Given the description of an element on the screen output the (x, y) to click on. 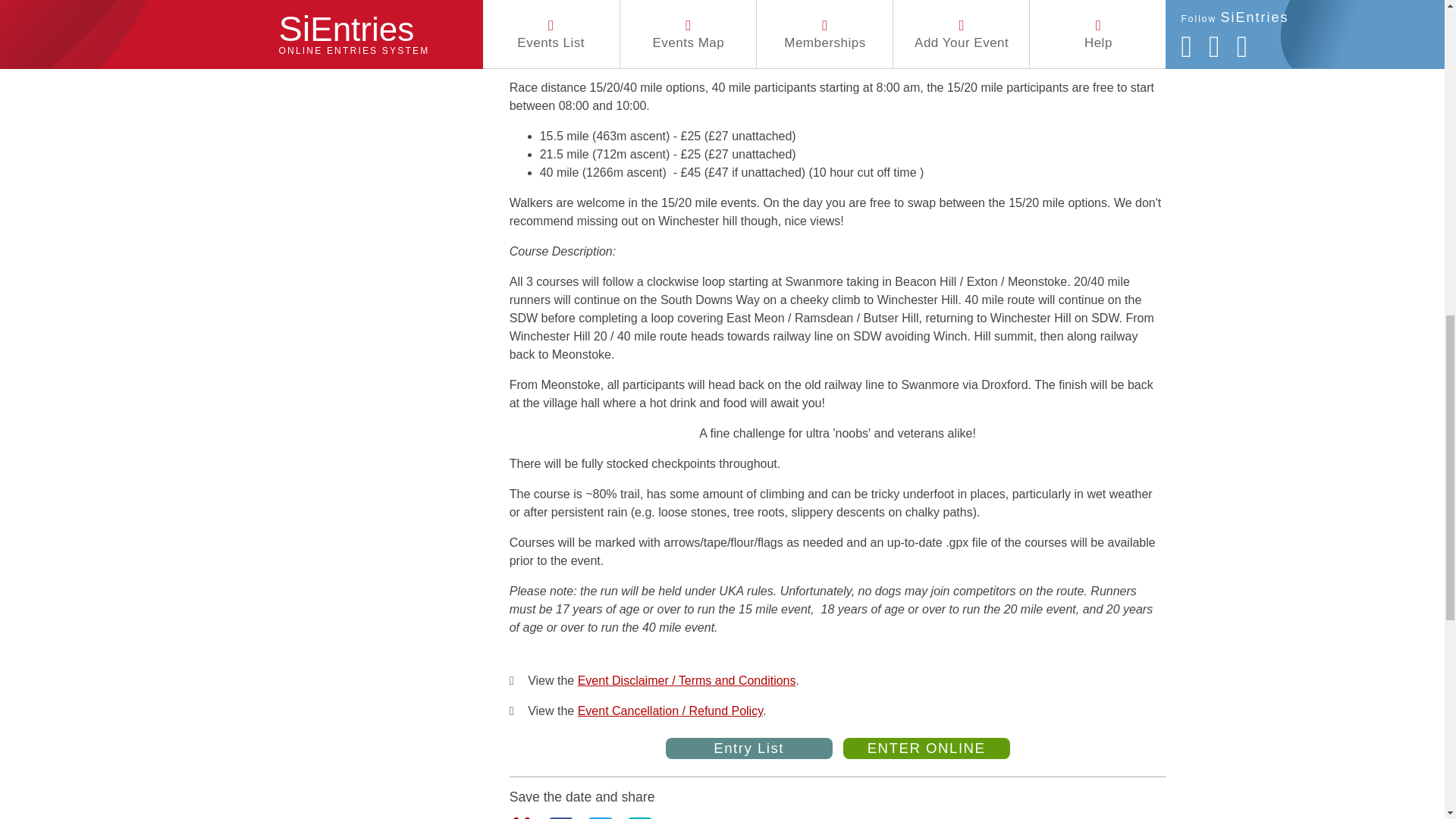
ENTER ONLINE (926, 748)
memory of a lost friend and ultra-runner Rich (912, 26)
Entry List (748, 748)
Log In (648, 1)
Register your Details (739, 1)
